Given the description of an element on the screen output the (x, y) to click on. 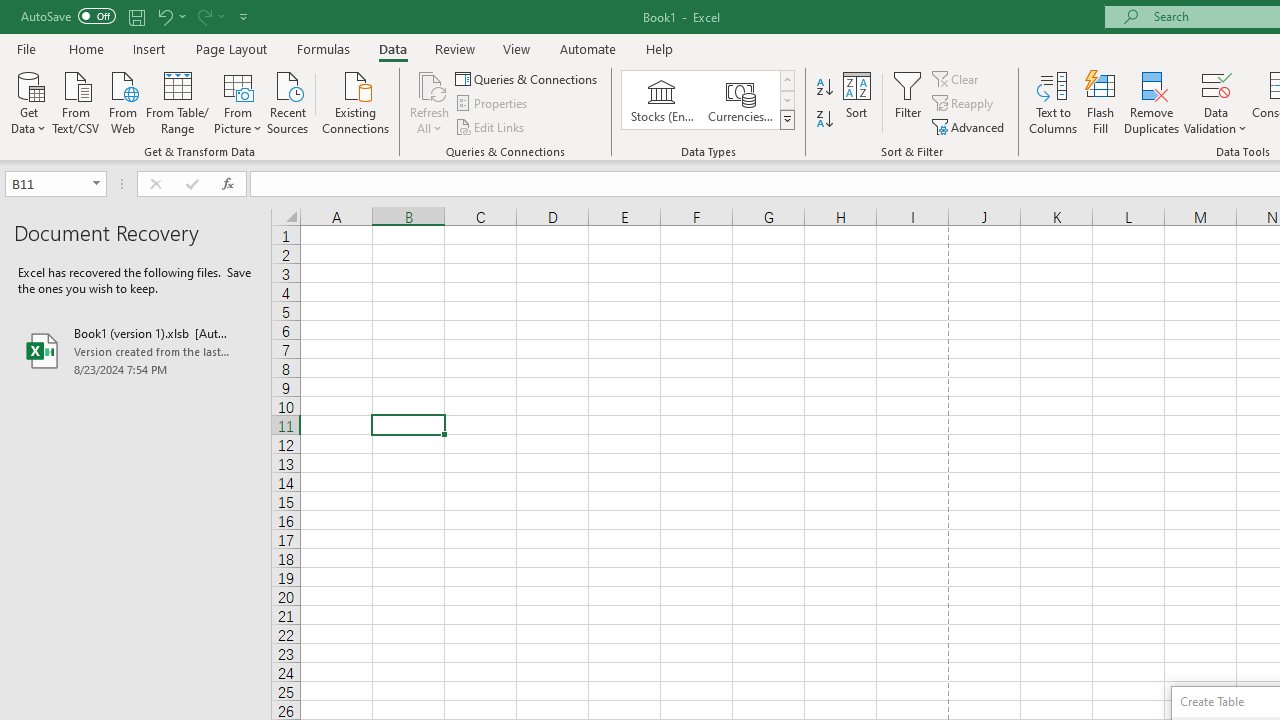
Save (136, 15)
Currencies (English) (740, 100)
Advanced... (970, 126)
AutoSave (68, 16)
Sort... (856, 102)
From Web (122, 101)
Text to Columns... (1053, 102)
Data Validation... (1215, 84)
Edit Links (491, 126)
